Given the description of an element on the screen output the (x, y) to click on. 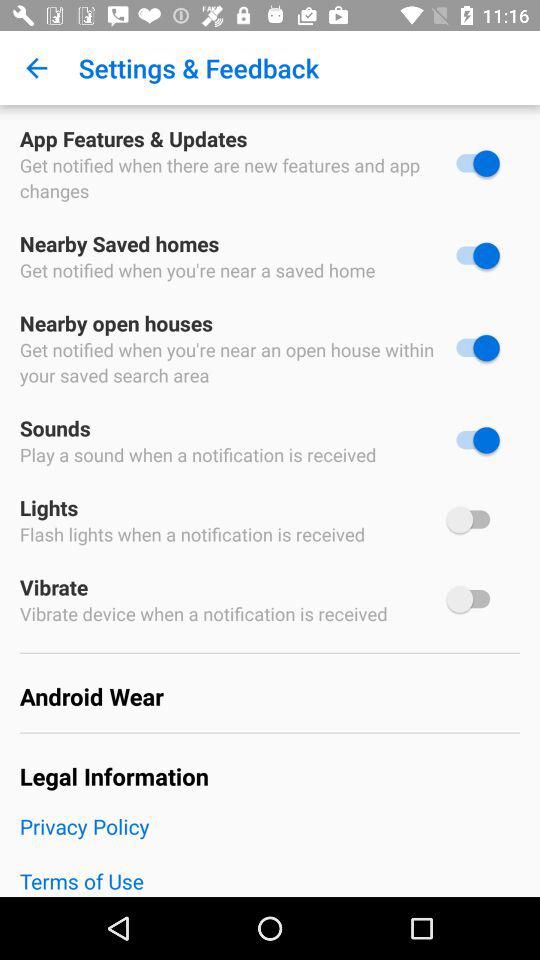
click the terms of use (269, 881)
